Given the description of an element on the screen output the (x, y) to click on. 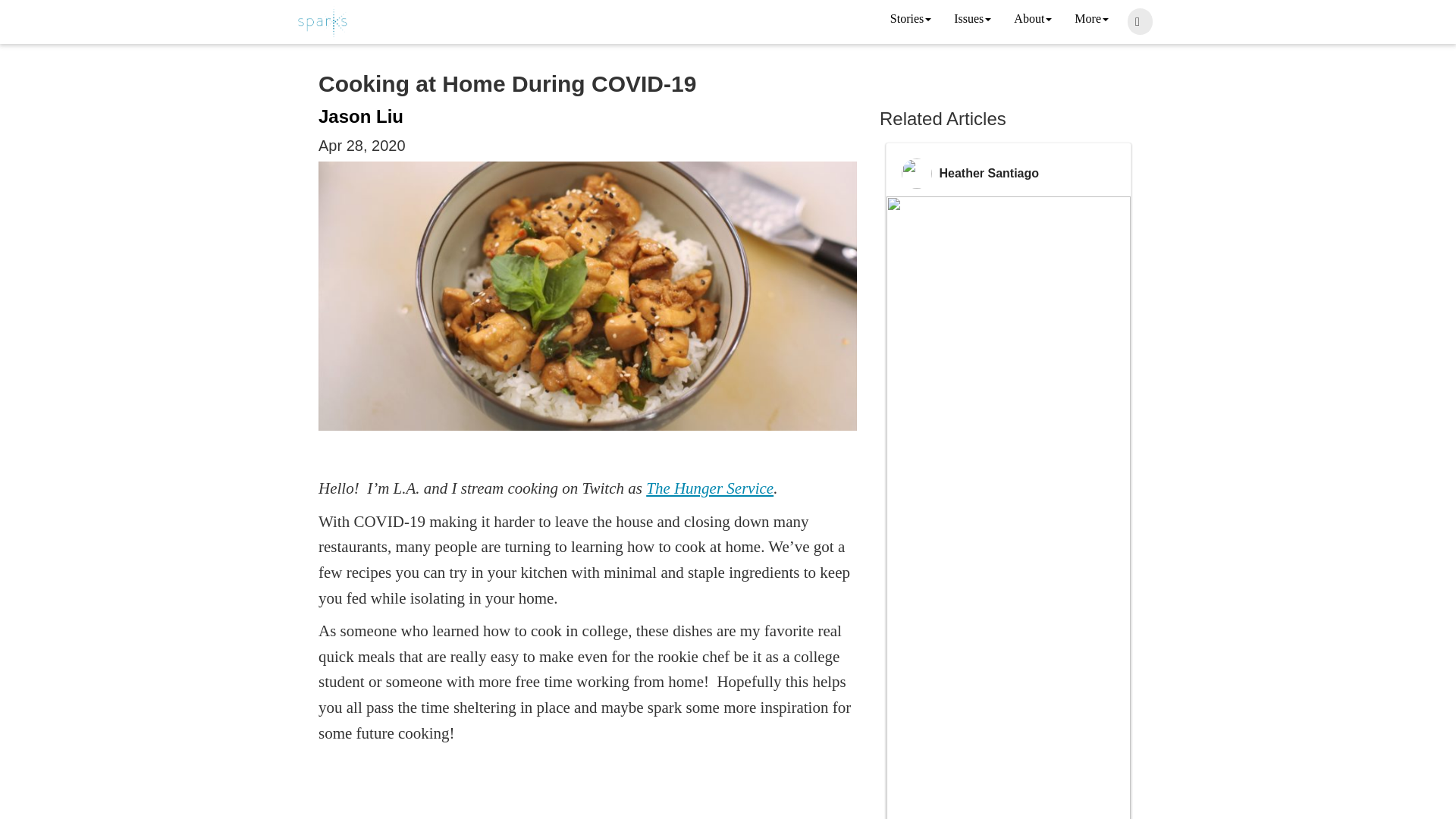
Issues (972, 19)
The Hunger Service (709, 488)
Jason Liu (360, 116)
About (1032, 19)
More (1090, 19)
Heather Santiago (989, 173)
Stories (910, 19)
